Given the description of an element on the screen output the (x, y) to click on. 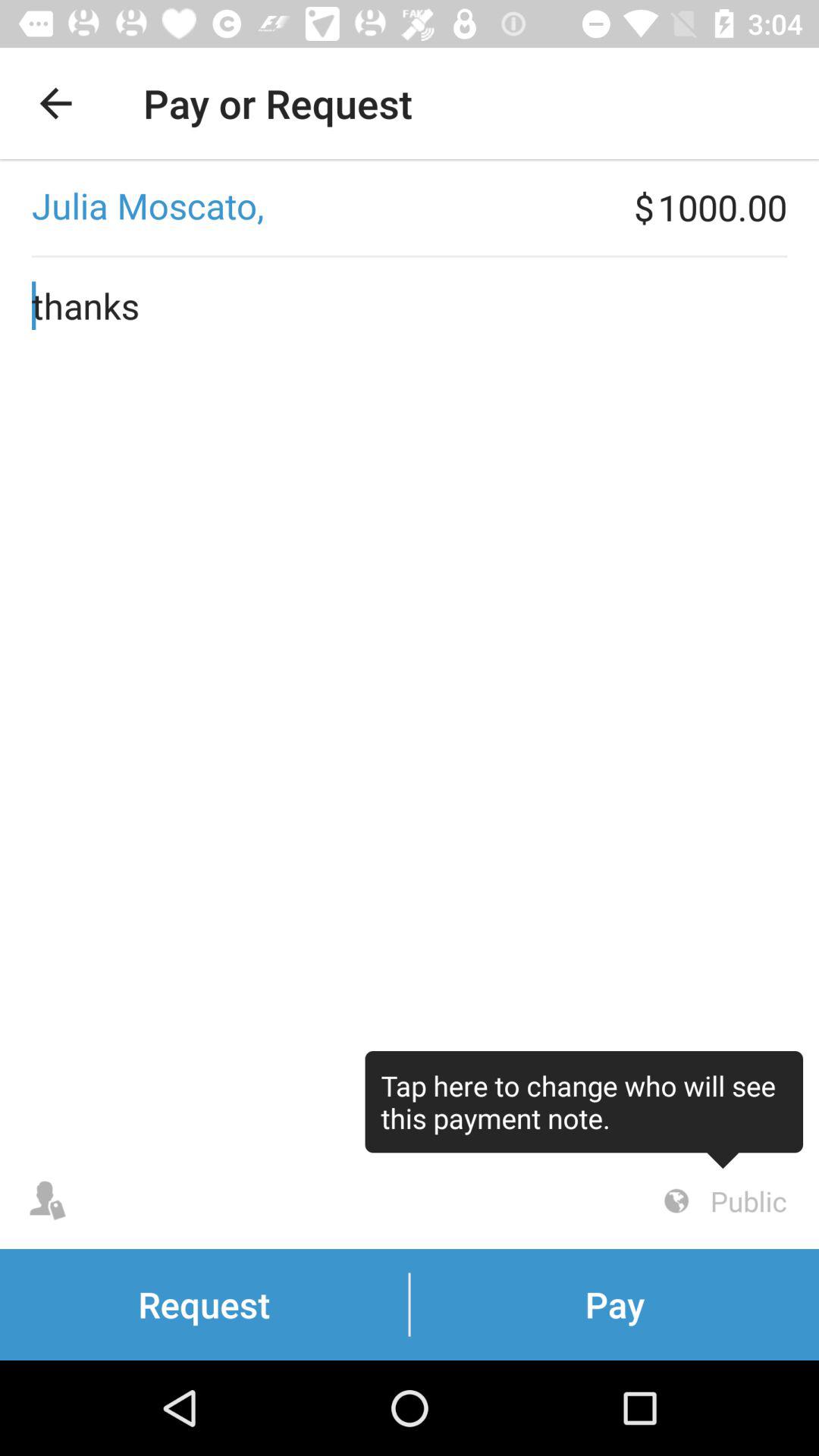
turn on the item next to pay or request app (55, 103)
